Given the description of an element on the screen output the (x, y) to click on. 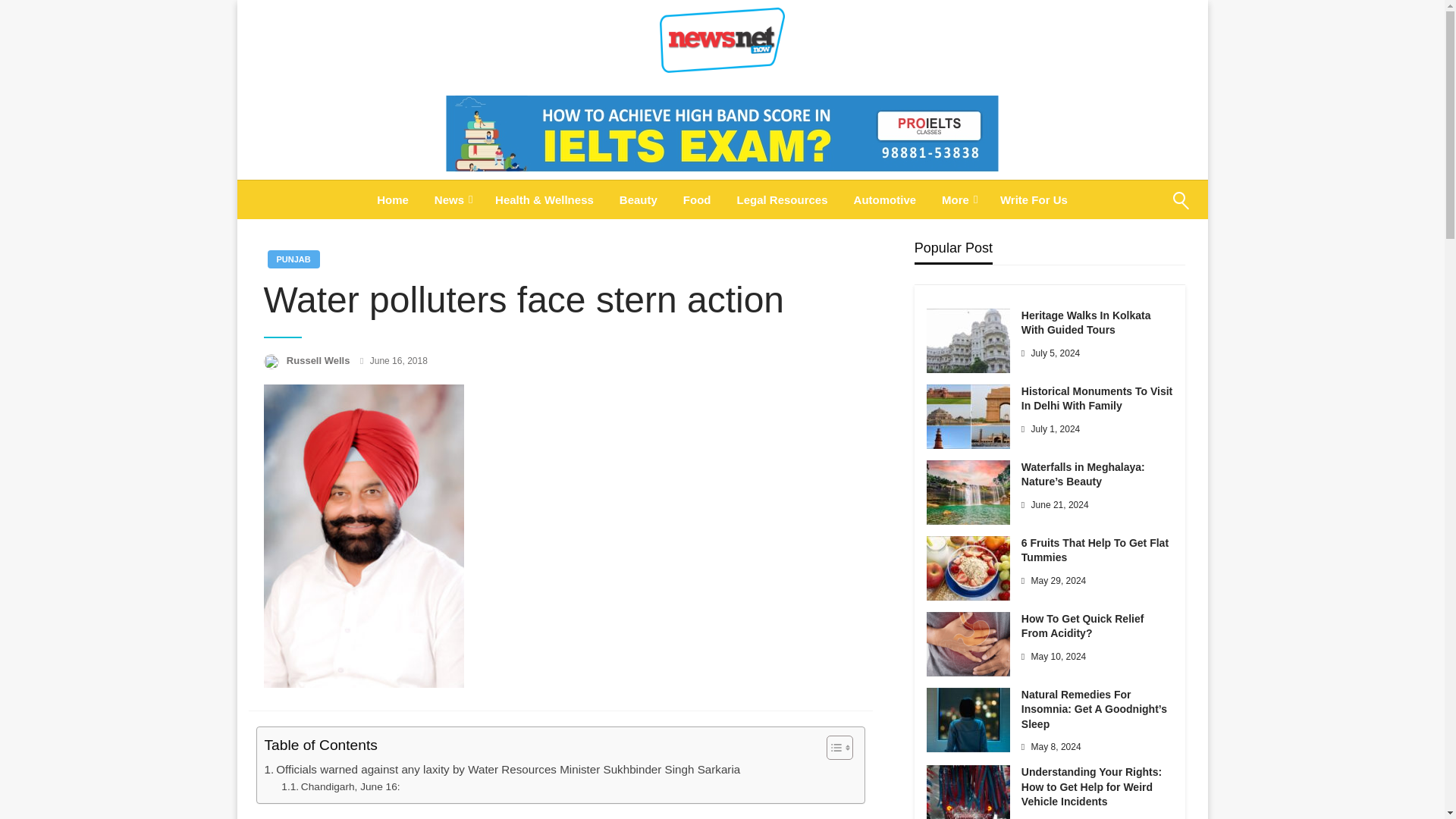
News Net Now (507, 100)
Chandigarh, June 16: (339, 786)
Food (696, 199)
Russell Wells (319, 360)
Home (393, 199)
Search (1144, 209)
Write For Us (1033, 199)
Legal Resources (781, 199)
Automotive (885, 199)
News (451, 199)
Beauty (638, 199)
More (957, 199)
